Given the description of an element on the screen output the (x, y) to click on. 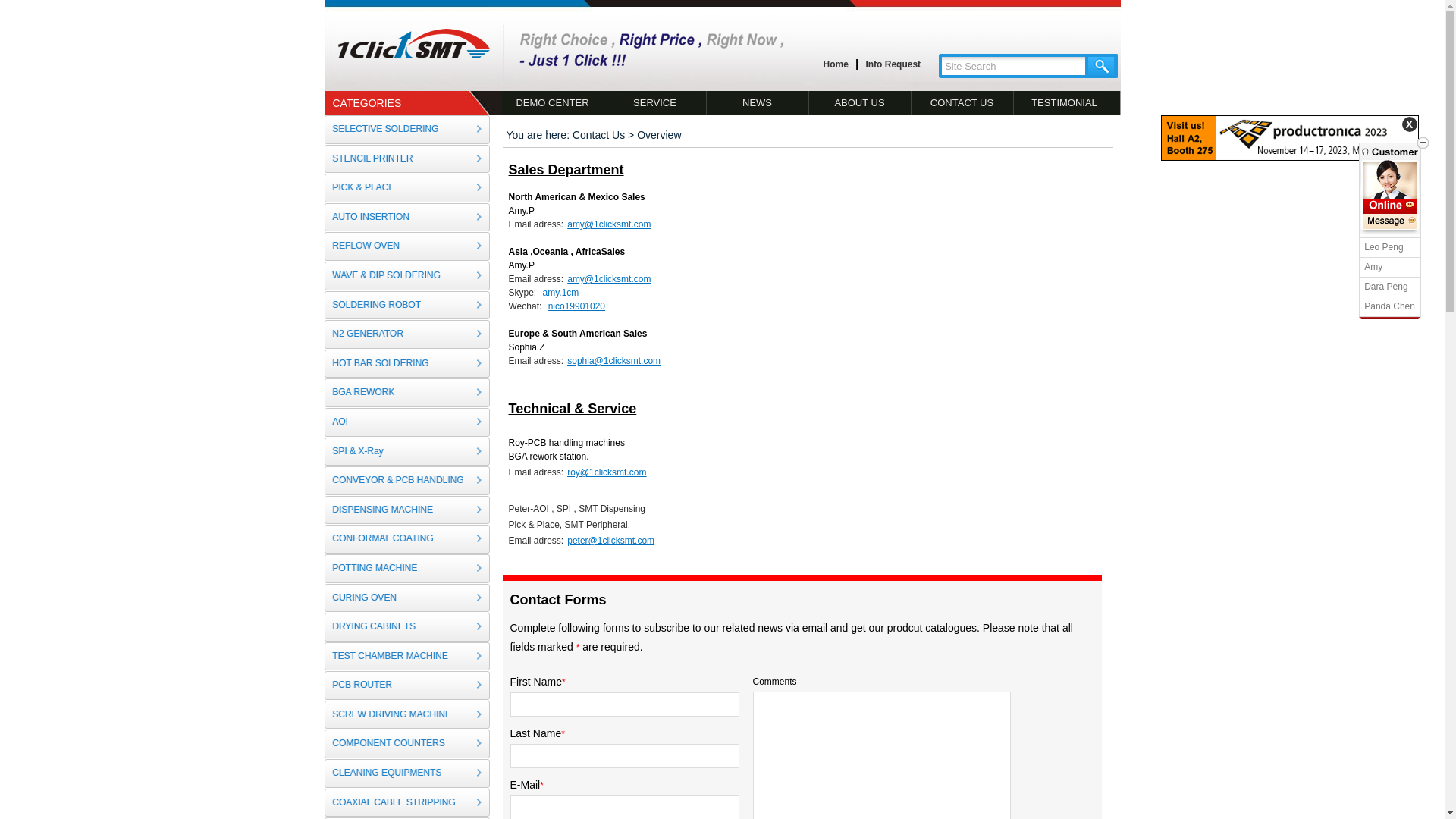
CURING OVEN Element type: text (406, 597)
STENCIL PRINTER Element type: text (406, 158)
PICK & PLACE Element type: text (406, 187)
ABOUT US Element type: text (859, 103)
AOI Element type: text (406, 421)
WAVE & DIP SOLDERING Element type: text (406, 275)
REFLOW OVEN Element type: text (406, 246)
HOT BAR SOLDERING Element type: text (406, 363)
* Element type: text (541, 785)
SOLDERING ROBOT Element type: text (406, 305)
AUTO INSERTION Element type: text (406, 217)
amy.1cm Element type: text (559, 292)
CLEANING EQUIPMENTS Element type: text (406, 773)
amy@1clicksmt.com Element type: text (606, 278)
NEWS Element type: text (757, 103)
* Element type: text (563, 682)
roy@1clicksmt.com Element type: text (604, 472)
TEST CHAMBER MACHINE Element type: text (406, 656)
Info Request Element type: text (892, 64)
Home Element type: text (835, 64)
SCREW DRIVING MACHINE Element type: text (406, 714)
customer service Element type: hover (1389, 221)
X Element type: text (1409, 123)
SERVICE Element type: text (654, 103)
CONTACT US Element type: text (962, 103)
CONVEYOR & PCB HANDLING Element type: text (406, 480)
Dara Peng Element type: text (1385, 286)
CONFORMAL COATING Element type: text (406, 538)
customer service Element type: hover (1389, 205)
COMPONENT COUNTERS Element type: text (406, 743)
* Element type: text (578, 647)
POTTING MACHINE Element type: text (406, 568)
productronica 2023 Element type: hover (1289, 157)
sophia@1clicksmt.com Element type: text (611, 360)
Amy Element type: text (1373, 266)
Leo Peng Element type: text (1383, 246)
DEMO CENTER Element type: text (553, 103)
nico19901020 Element type: text (574, 306)
COAXIAL CABLE STRIPPING Element type: text (406, 802)
N2 GENERATOR Element type: text (406, 334)
SELECTIVE SOLDERING Element type: text (406, 129)
DRYING CABINETS Element type: text (406, 626)
SPI & X-Ray Element type: text (406, 451)
PCB ROUTER Element type: text (406, 685)
* Element type: text (562, 733)
peter@1clicksmt.com Element type: text (608, 540)
BGA REWORK Element type: text (406, 392)
DISPENSING MACHINE Element type: text (406, 509)
Panda Chen Element type: text (1389, 306)
TESTIMONIAL Element type: text (1063, 103)
amy@1clicksmt.com Element type: text (606, 224)
